Given the description of an element on the screen output the (x, y) to click on. 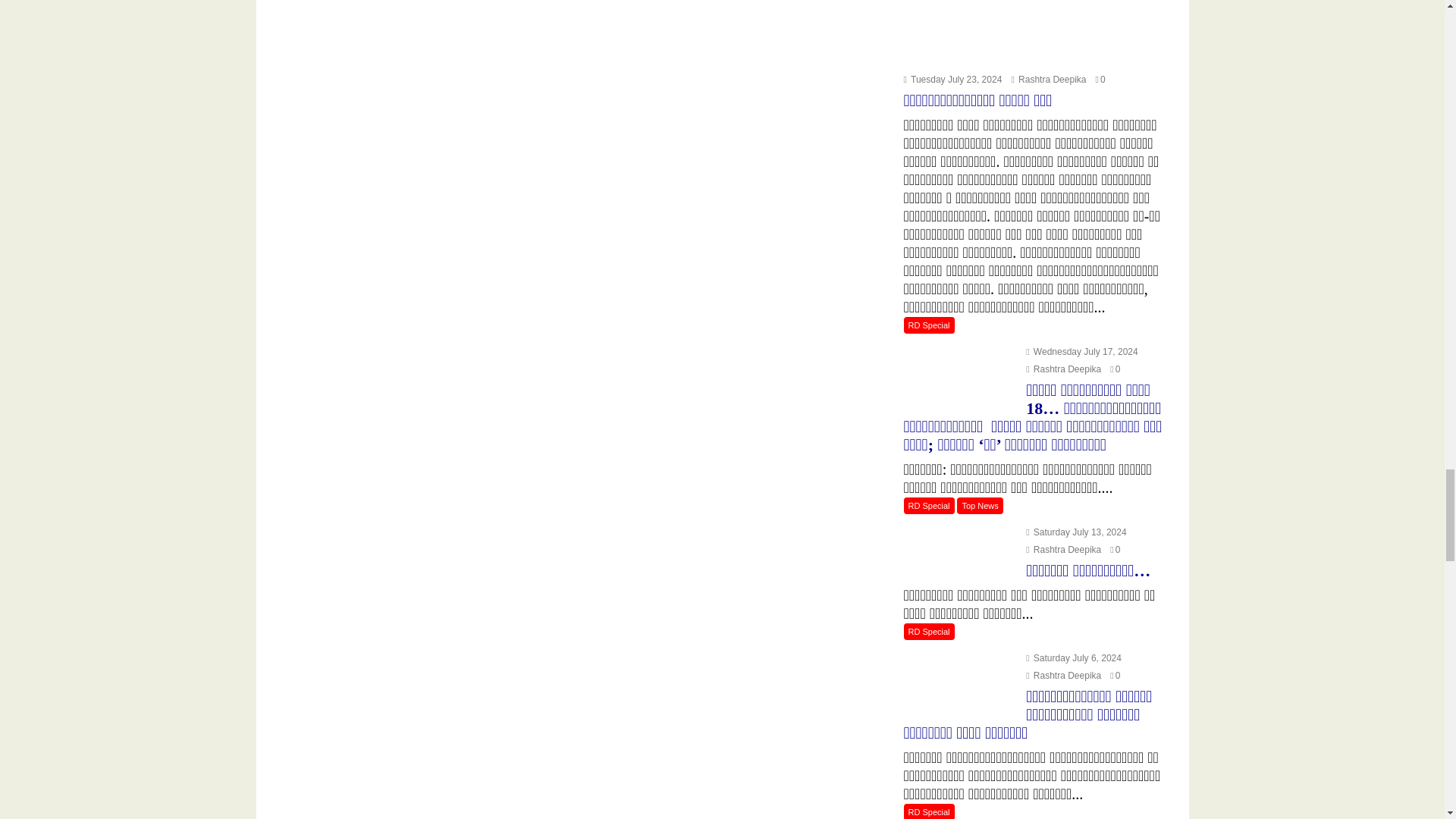
Rashtra Deepika (1048, 79)
Rashtra Deepika (1063, 368)
